Given the description of an element on the screen output the (x, y) to click on. 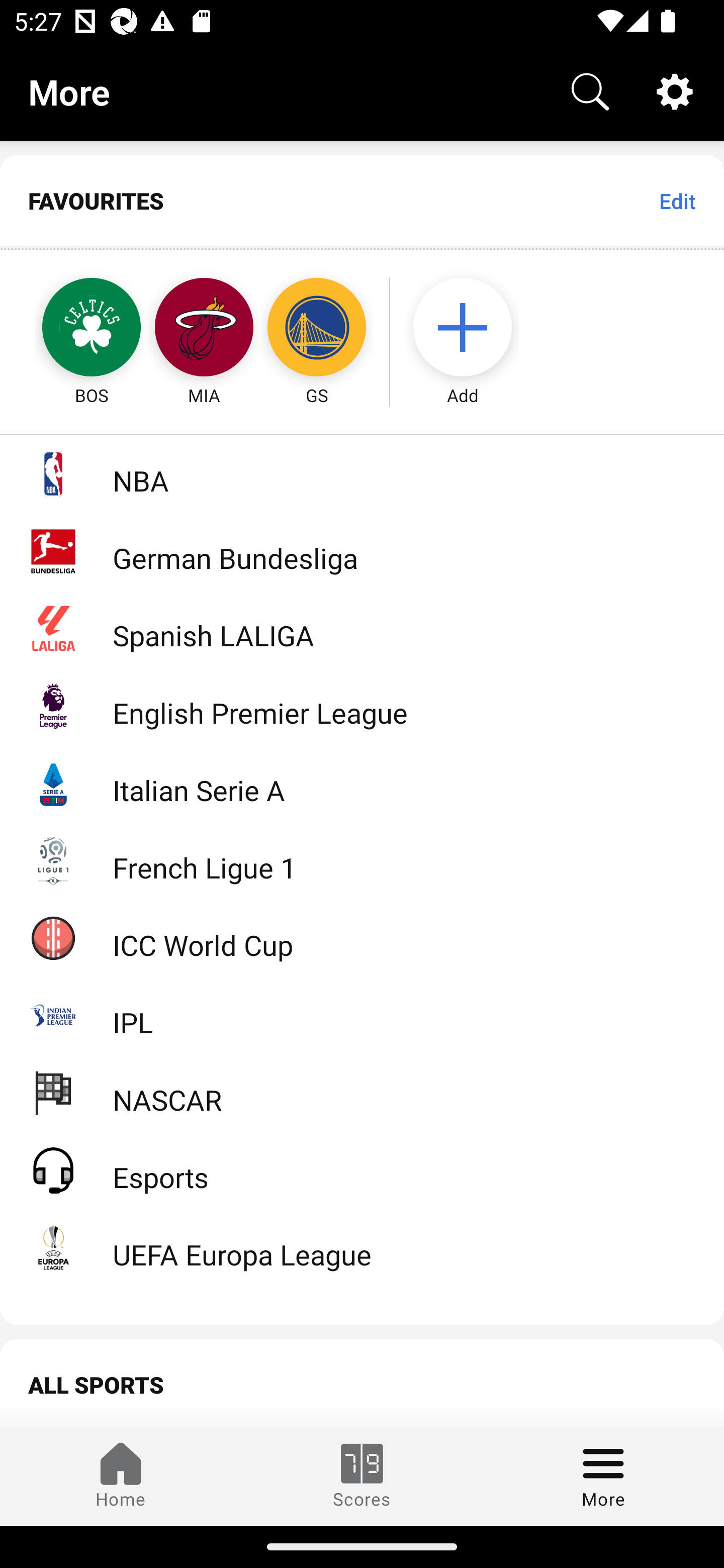
Search (590, 90)
Settings (674, 90)
Edit (676, 200)
BOS Boston Celtics (73, 328)
MIA Miami Heat (203, 328)
GS Golden State Warriors (316, 328)
 Add (471, 328)
NBA (362, 473)
German Bundesliga (362, 550)
Spanish LALIGA (362, 627)
English Premier League (362, 705)
Italian Serie A (362, 782)
French Ligue 1 (362, 859)
ICC World Cup (362, 937)
IPL (362, 1014)
NASCAR (362, 1091)
Esports (362, 1169)
UEFA Europa League (362, 1246)
Home (120, 1475)
Scores (361, 1475)
